Given the description of an element on the screen output the (x, y) to click on. 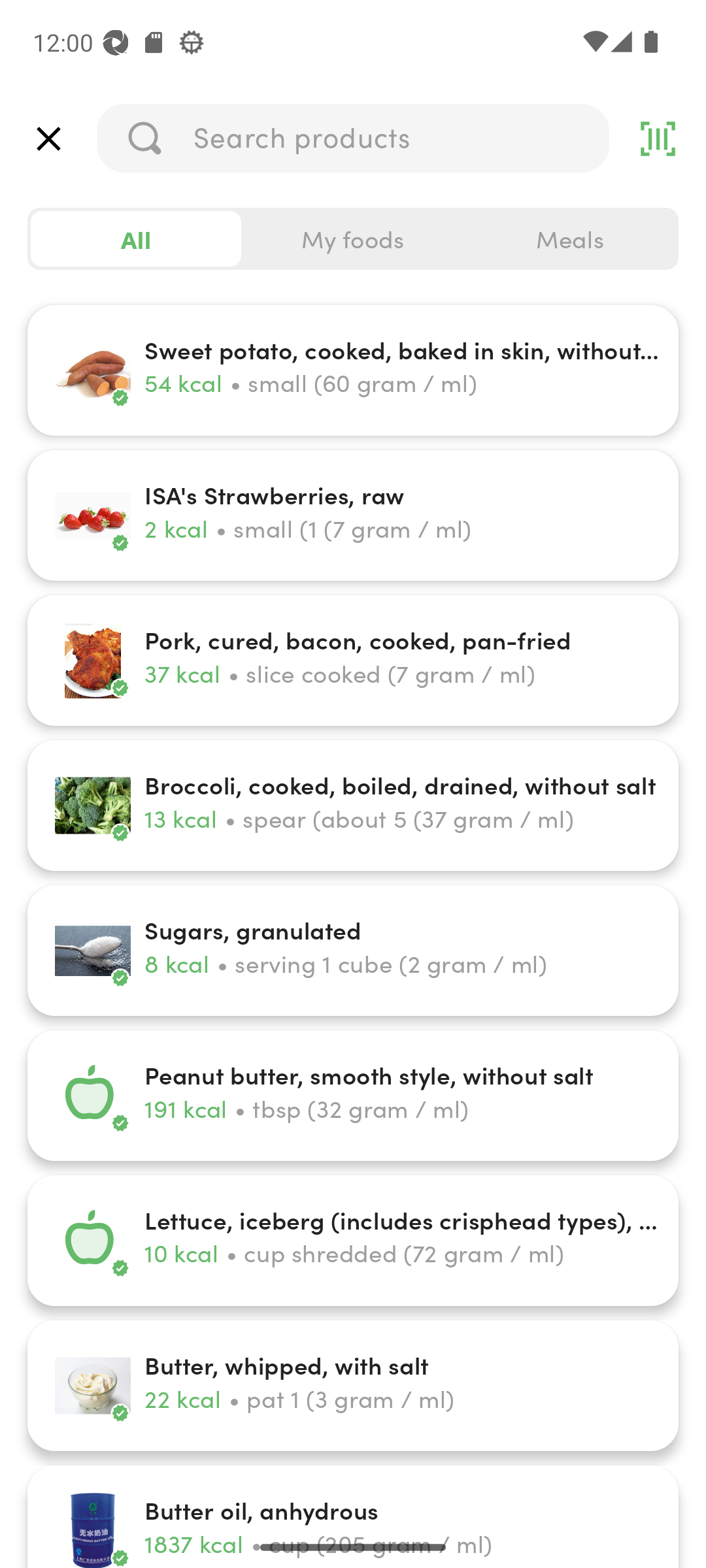
top_left_action (48, 138)
top_right_action (658, 138)
My foods (352, 238)
Meals (569, 238)
